Given the description of an element on the screen output the (x, y) to click on. 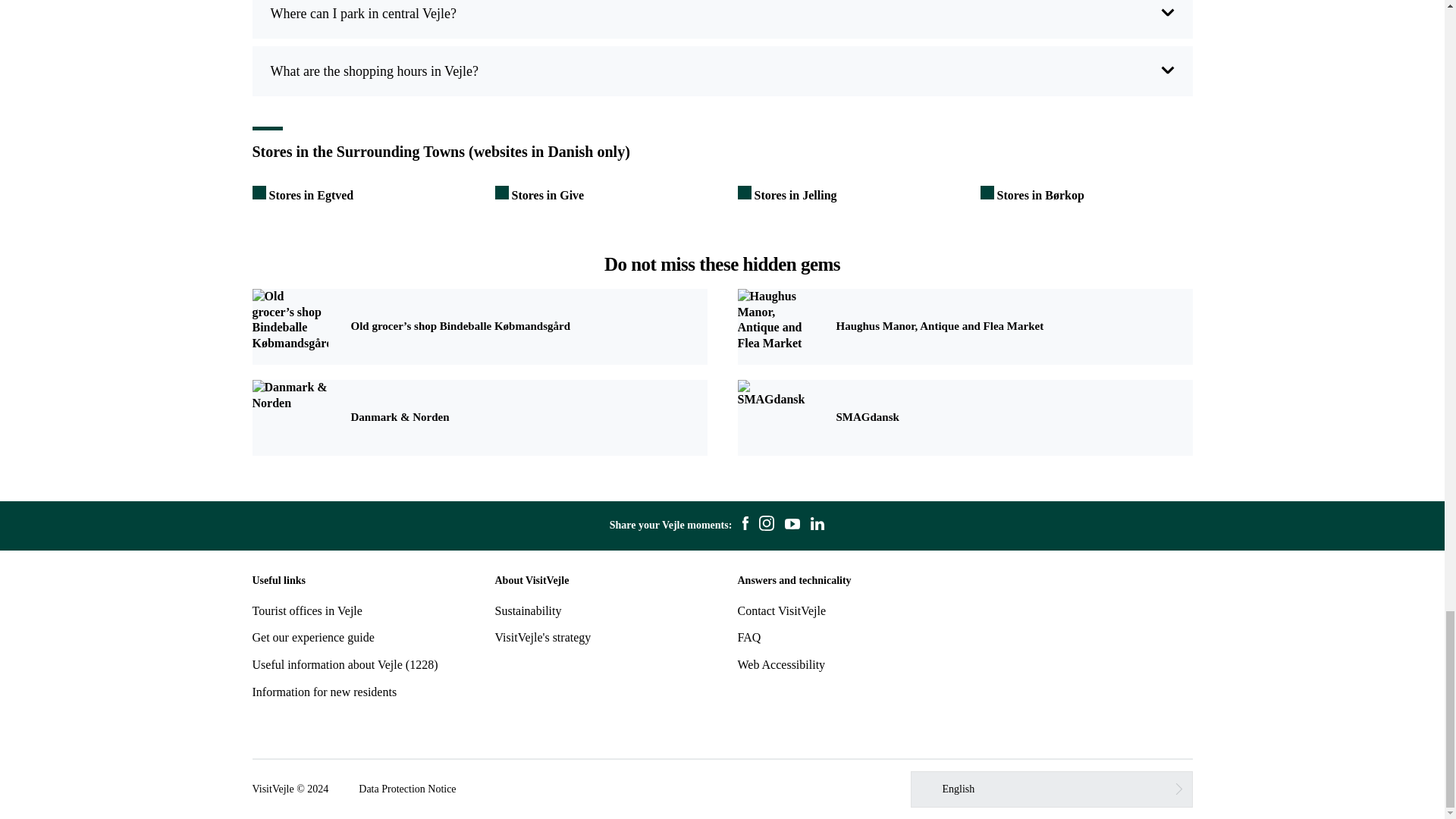
instagram (766, 525)
Sustainability (527, 610)
Get our experience guide (312, 636)
Haughus Manor, Antique and Flea Market (964, 326)
Tourist offices in Vejle (306, 610)
youtube (791, 525)
SMAGdansk (964, 417)
Stores in Egtved (302, 195)
Information for new residents (323, 691)
VisitVejle's strategy (543, 636)
